Given the description of an element on the screen output the (x, y) to click on. 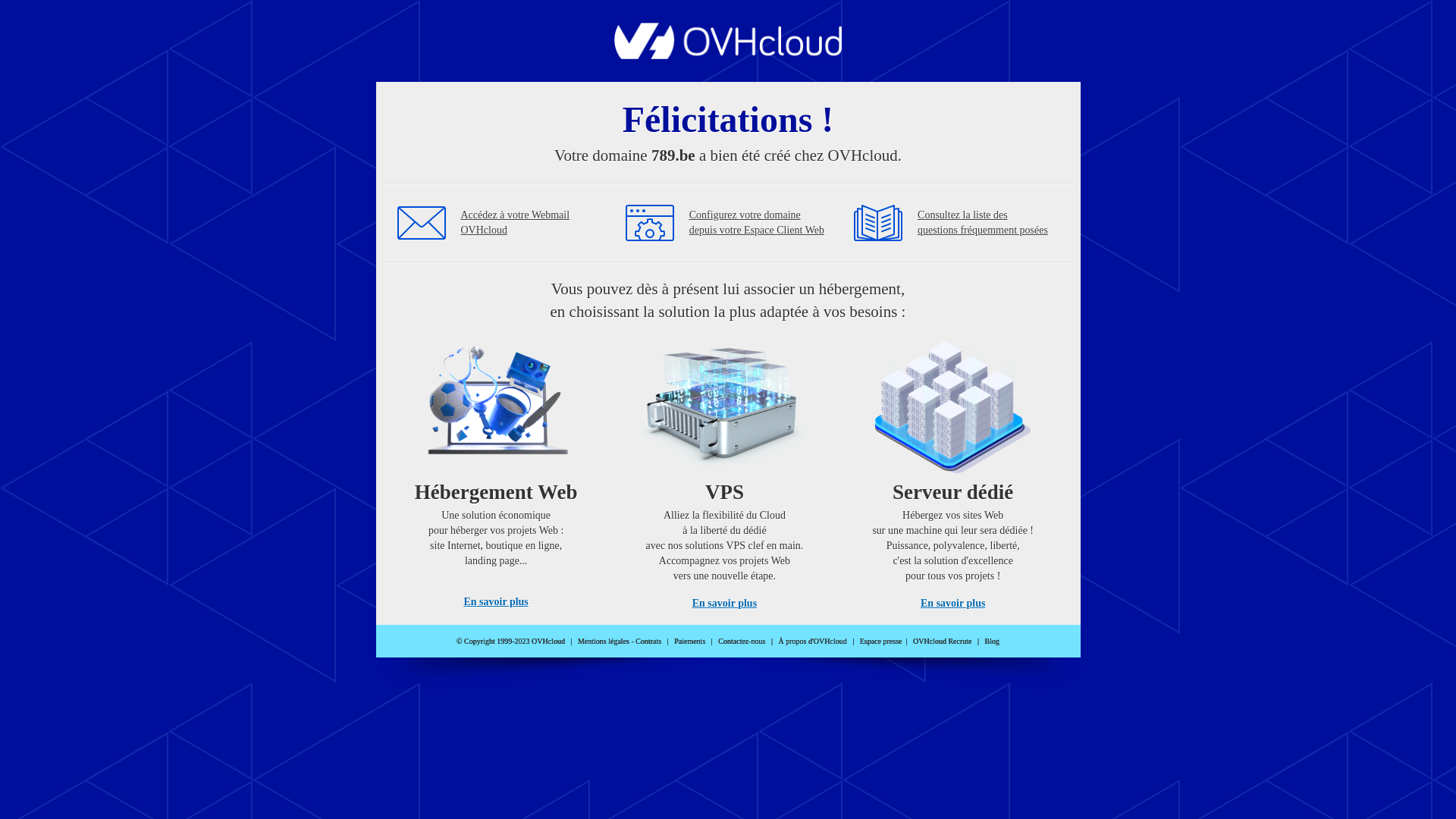
En savoir plus Element type: text (724, 602)
Espace presse Element type: text (880, 641)
En savoir plus Element type: text (495, 601)
OVHcloud Recrute Element type: text (942, 641)
Contactez-nous Element type: text (741, 641)
Paiements Element type: text (689, 641)
Configurez votre domaine
depuis votre Espace Client Web Element type: text (756, 222)
En savoir plus Element type: text (952, 602)
VPS Element type: hover (724, 469)
Blog Element type: text (992, 641)
OVHcloud Element type: hover (727, 54)
